Given the description of an element on the screen output the (x, y) to click on. 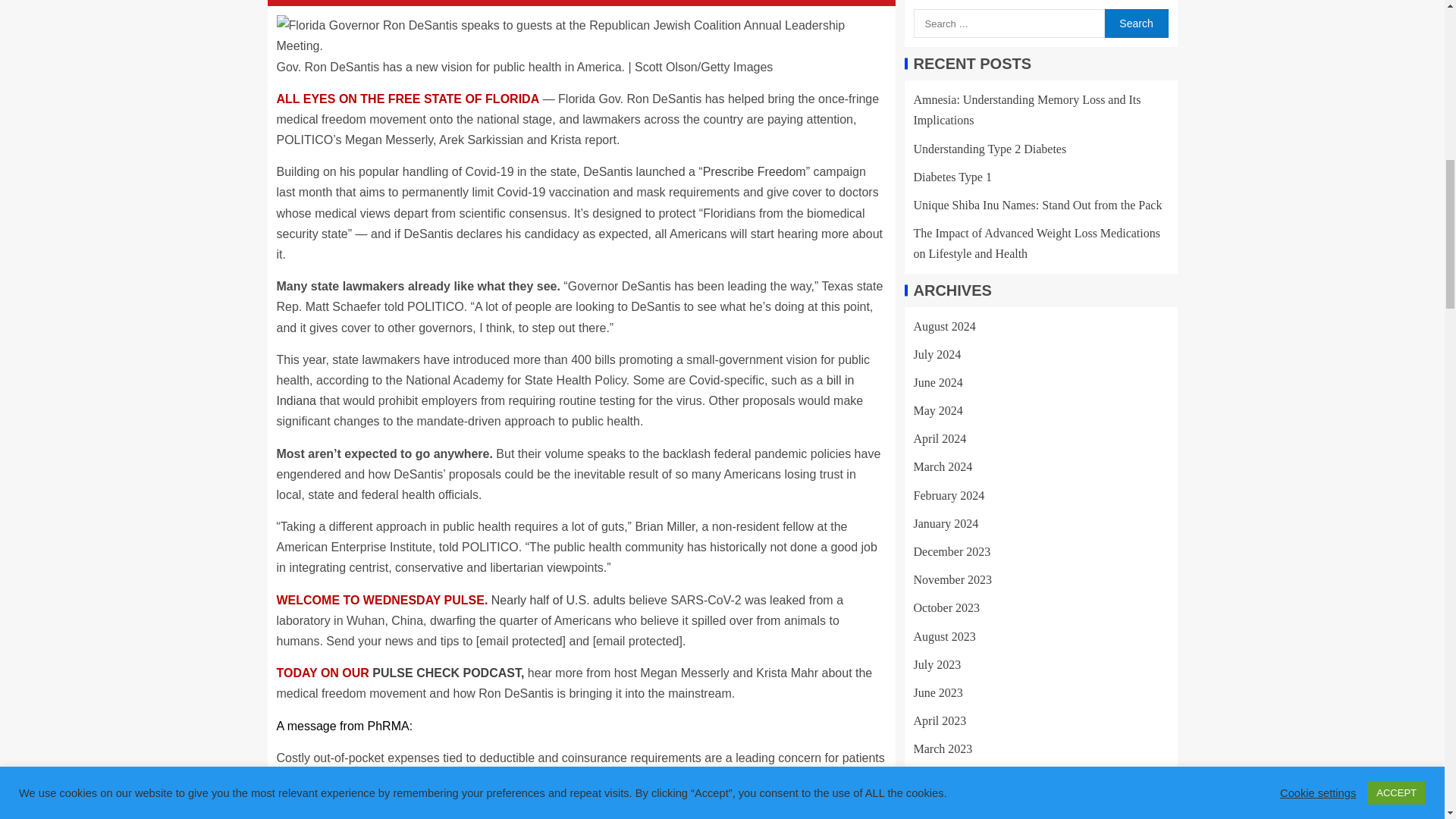
bill in Indiana (564, 390)
Prescribe Freedom (754, 171)
PULSE CHECK PODCAST, (448, 672)
IQVIA data (671, 798)
Nearly half of U.S. adults (559, 599)
